Given the description of an element on the screen output the (x, y) to click on. 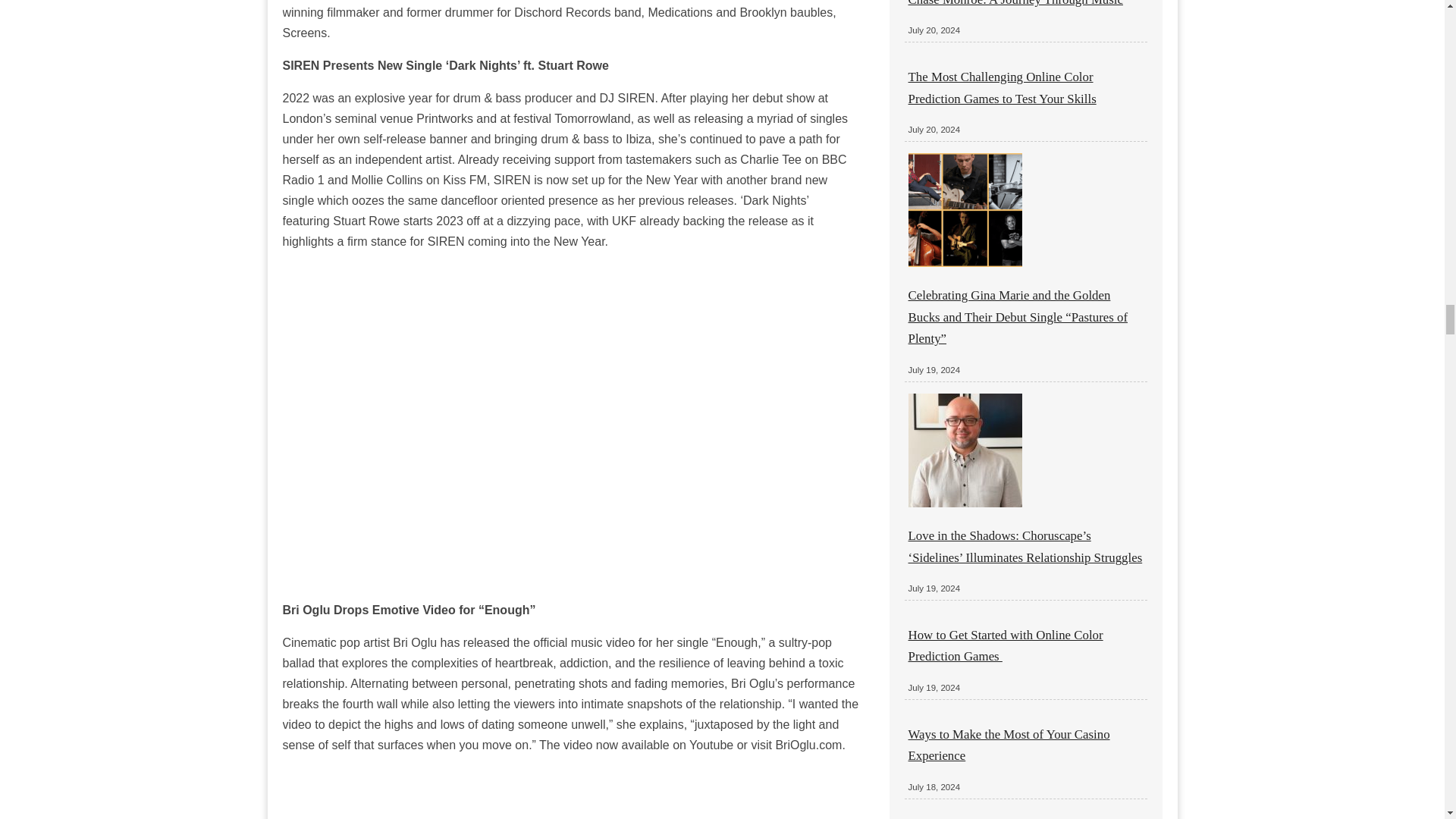
How to Get Started with Online Color Prediction Games  (1005, 645)
Chase Monroe: A Journey Through Music (1015, 3)
